Given the description of an element on the screen output the (x, y) to click on. 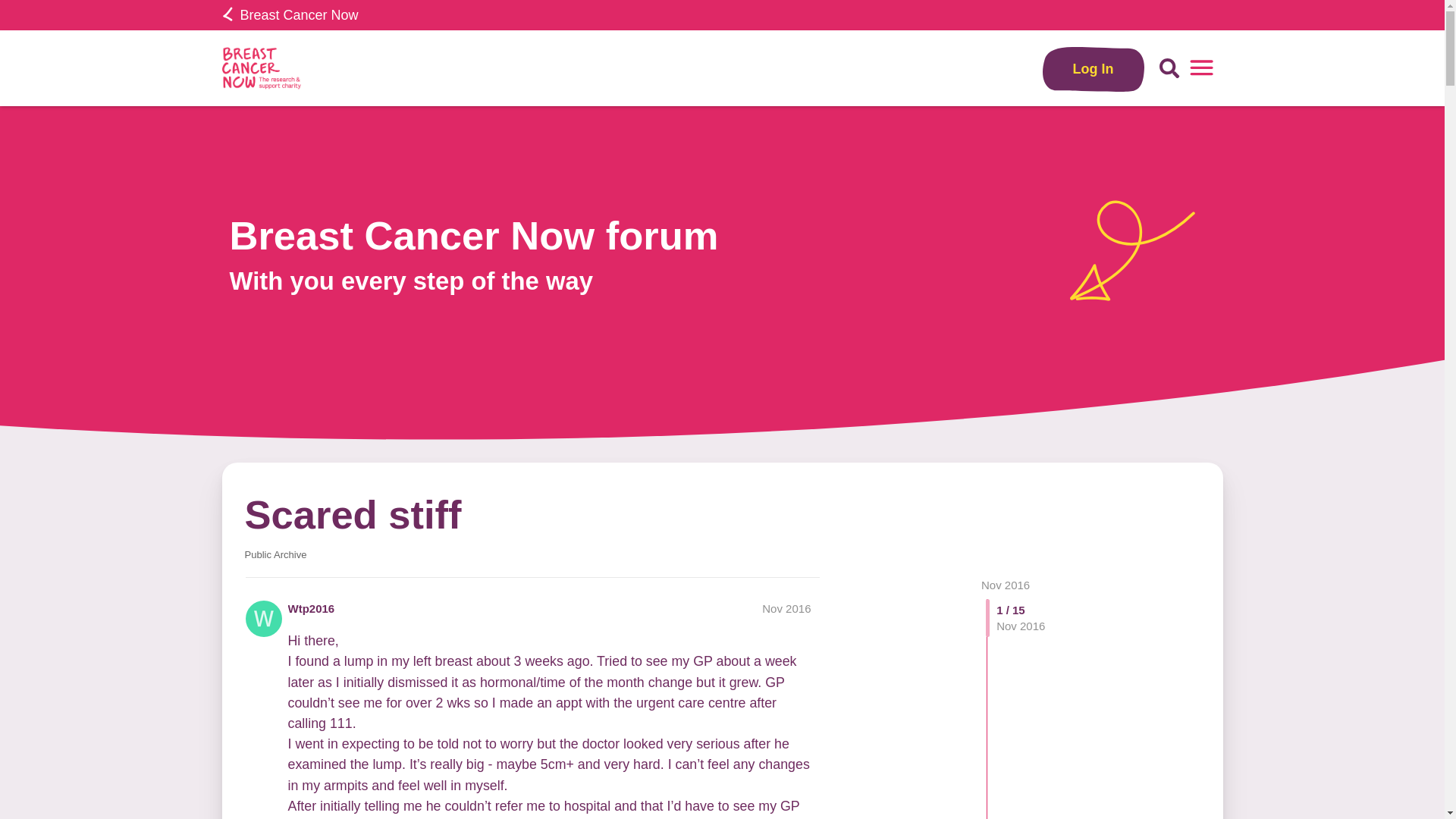
Post date (785, 608)
Log In (1093, 68)
Breast Cancer Now (289, 15)
Search (1169, 68)
menu (1201, 67)
Nov 2016 (1005, 584)
Archived posts which are available to view. (274, 554)
Scared stiff (352, 514)
Public Archive (274, 554)
Nov 2016 (1005, 584)
